Given the description of an element on the screen output the (x, y) to click on. 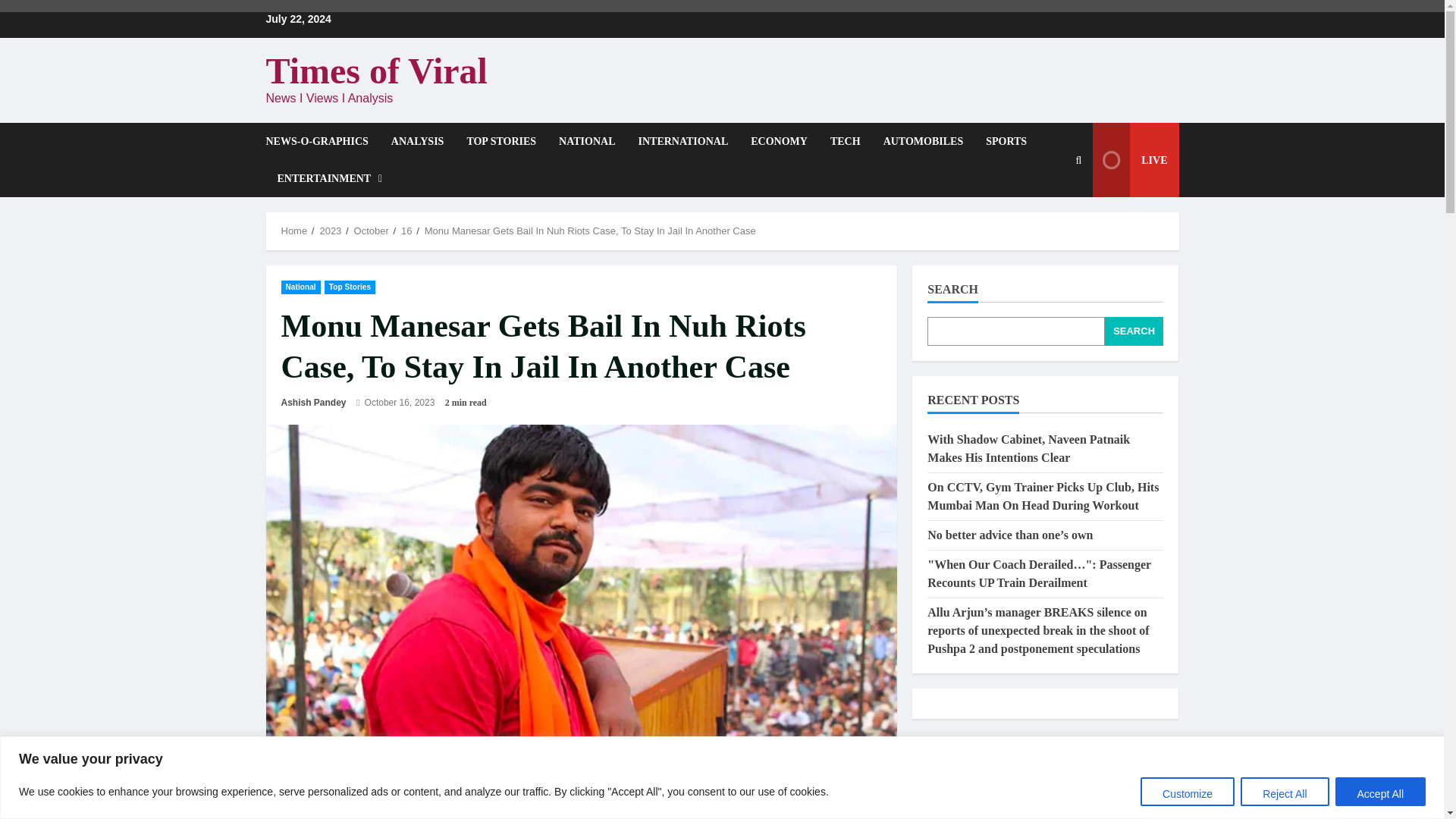
NEWS-O-GRAPHICS (321, 140)
TOP STORIES (500, 140)
ECONOMY (778, 140)
INTERNATIONAL (682, 140)
LIVE (1135, 159)
Times of Viral (375, 70)
Customize (1187, 790)
2023 (329, 230)
ANALYSIS (417, 140)
TECH (845, 140)
AUTOMOBILES (923, 140)
Accept All (1380, 790)
ENTERTAINMENT (322, 178)
SPORTS (1006, 140)
